Given the description of an element on the screen output the (x, y) to click on. 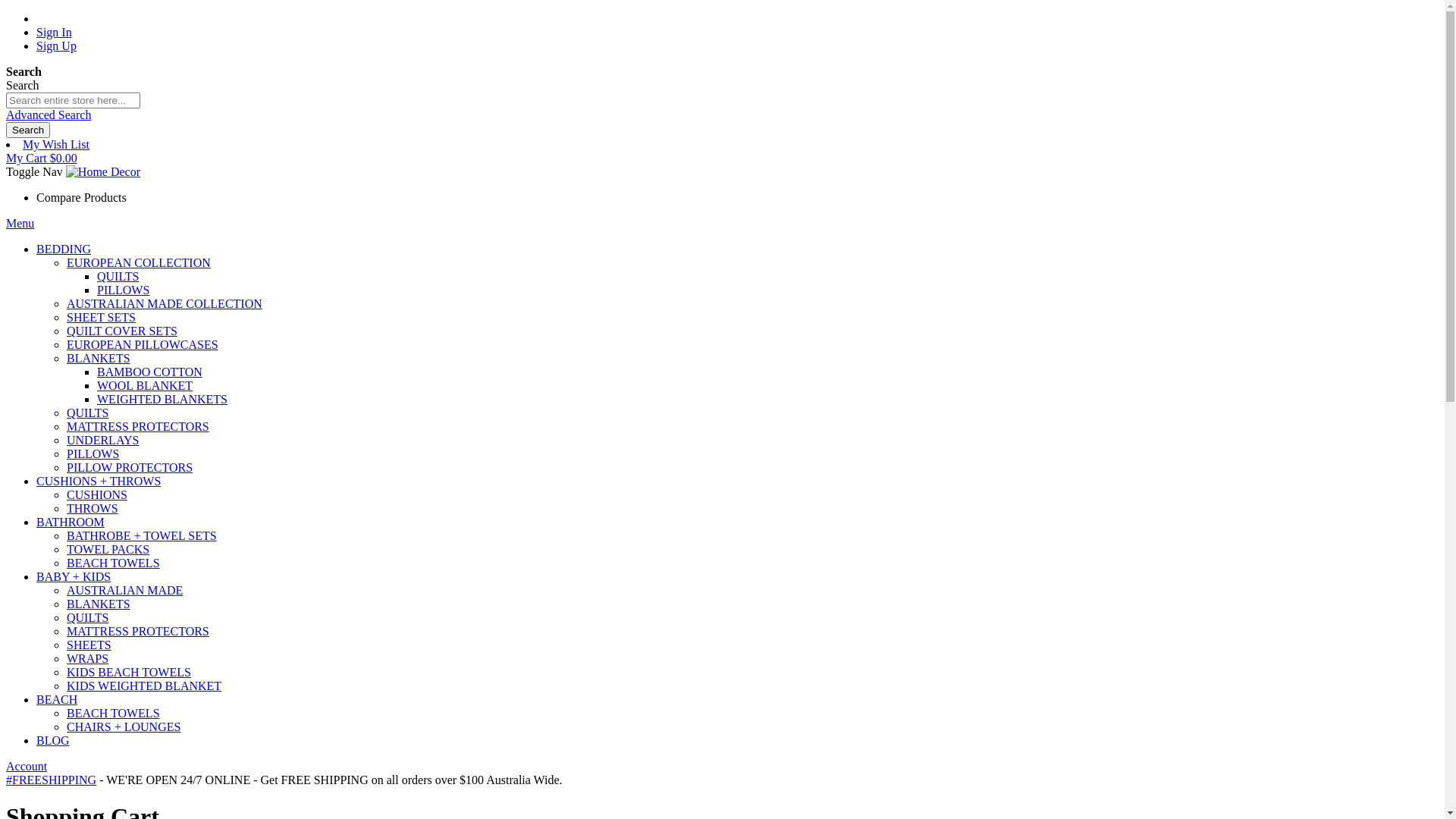
BEACH Element type: text (56, 699)
Menu Element type: text (20, 222)
EUROPEAN COLLECTION Element type: text (138, 262)
Account Element type: text (26, 765)
BEACH TOWELS Element type: text (113, 562)
QUILT COVER SETS Element type: text (121, 330)
UNDERLAYS Element type: text (102, 439)
SHEETS Element type: text (88, 644)
Sign In Element type: text (54, 31)
MATTRESS PROTECTORS Element type: text (137, 630)
Advanced Search Element type: text (48, 114)
BEDDING Element type: text (63, 248)
BLOG Element type: text (52, 740)
CUSHIONS + THROWS Element type: text (98, 480)
PILLOWS Element type: text (123, 289)
AUSTRALIAN MADE COLLECTION Element type: text (164, 303)
Compare Products Element type: text (81, 197)
MATTRESS PROTECTORS Element type: text (137, 426)
QUILTS Element type: text (117, 275)
My Cart $0.00 Element type: text (41, 157)
TOWEL PACKS Element type: text (107, 548)
QUILTS Element type: text (87, 412)
BATHROBE + TOWEL SETS Element type: text (141, 535)
PILLOW PROTECTORS Element type: text (129, 467)
CUSHIONS Element type: text (96, 494)
THROWS Element type: text (92, 508)
BLANKETS Element type: text (98, 603)
KIDS WEIGHTED BLANKET Element type: text (143, 685)
KIDS BEACH TOWELS Element type: text (128, 671)
CHAIRS + LOUNGES Element type: text (123, 726)
AUSTRALIAN MADE Element type: text (124, 589)
BEACH TOWELS Element type: text (113, 712)
WEIGHTED BLANKETS Element type: text (162, 398)
WOOL BLANKET Element type: text (144, 385)
Search Element type: text (28, 130)
BAMBOO COTTON Element type: text (149, 371)
#FREESHIPPING Element type: text (51, 779)
PILLOWS Element type: text (92, 453)
EUROPEAN PILLOWCASES Element type: text (142, 344)
BLANKETS Element type: text (98, 357)
SHEET SETS Element type: text (100, 316)
WRAPS Element type: text (87, 658)
QUILTS Element type: text (87, 617)
Home Decor Element type: hover (102, 171)
BATHROOM Element type: text (70, 521)
My Wish List Element type: text (55, 144)
BABY + KIDS Element type: text (73, 576)
Home Decor Element type: hover (102, 171)
Sign Up Element type: text (56, 45)
